Given the description of an element on the screen output the (x, y) to click on. 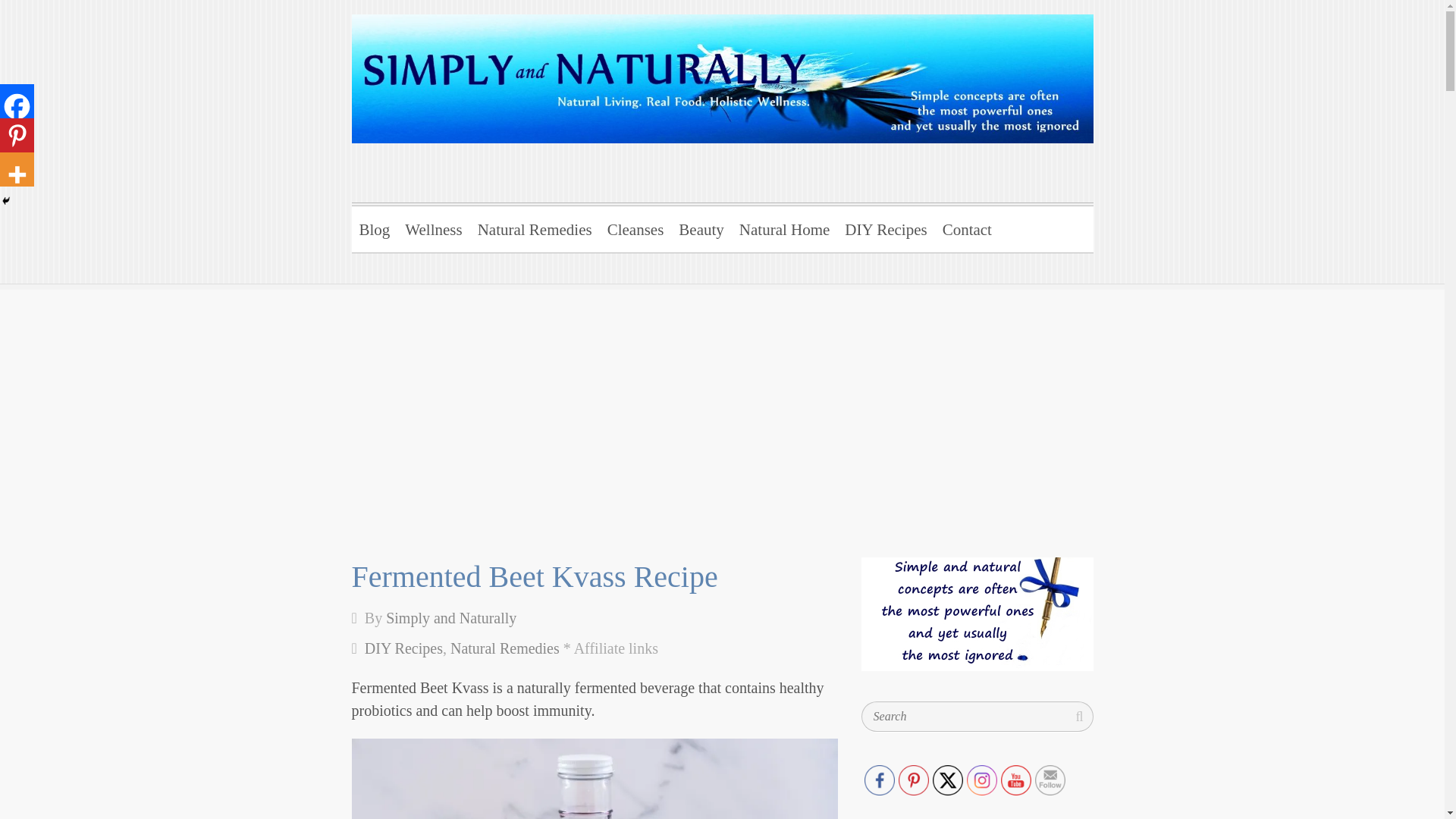
Simply and Naturally (548, 78)
Contact (966, 227)
Beauty (700, 227)
Natural Remedies (534, 227)
Facebook (879, 779)
Simply and Naturally (450, 617)
Pinterest (16, 134)
Simply and Naturally (548, 78)
Blog (374, 227)
